Given the description of an element on the screen output the (x, y) to click on. 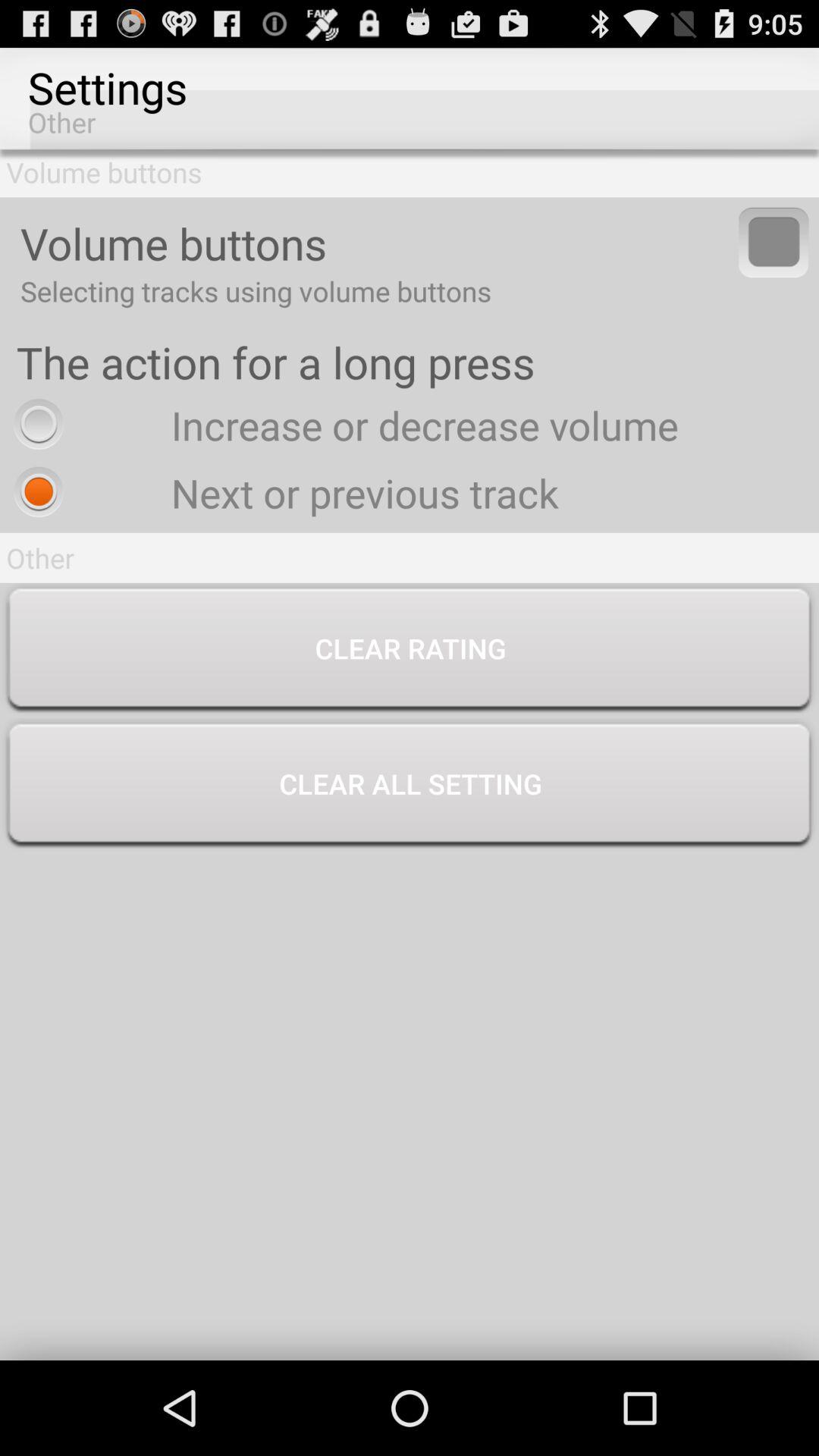
launch the clear all setting button (409, 785)
